Given the description of an element on the screen output the (x, y) to click on. 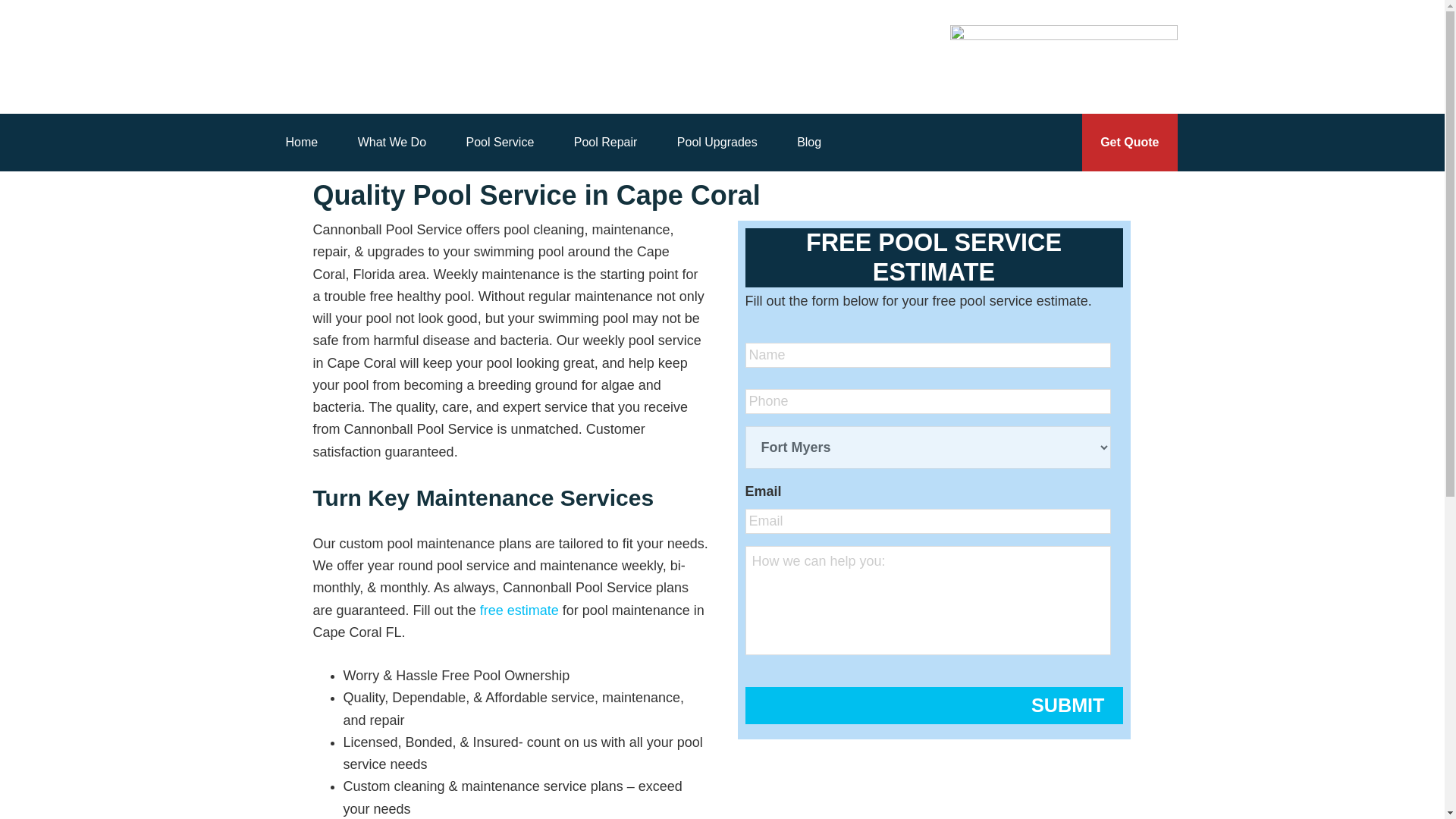
Get Quote (1128, 142)
Pool Upgrades (717, 142)
Submit (933, 705)
free estimate (519, 610)
Cannonball Pool Service (361, 56)
Blog (809, 142)
Pool Service (498, 142)
Pool Repair (606, 142)
What We Do (391, 142)
Home (301, 142)
Submit (933, 705)
